Given the description of an element on the screen output the (x, y) to click on. 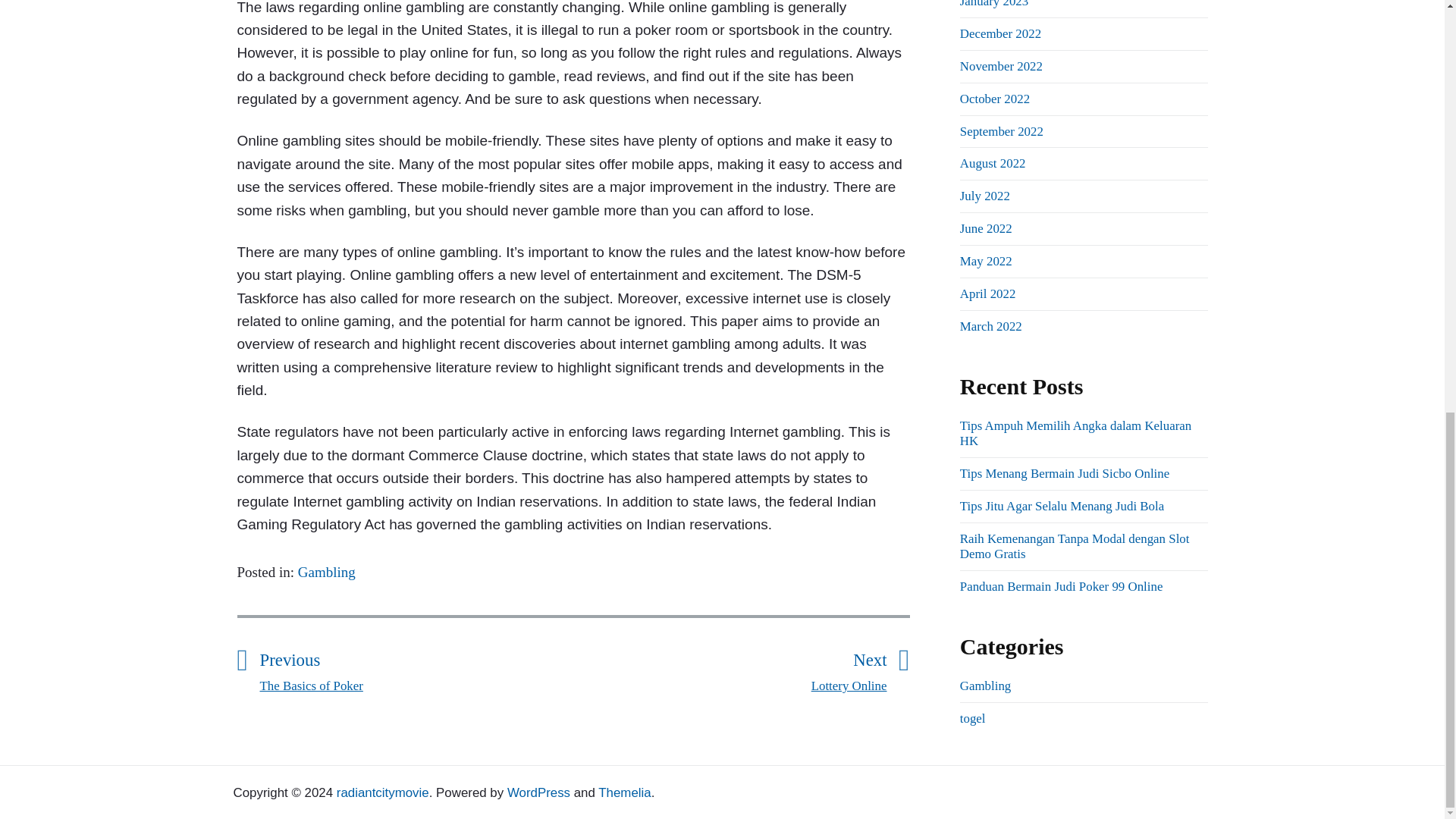
June 2022 (985, 228)
September 2022 (416, 668)
December 2022 (1001, 130)
Gambling (1000, 33)
November 2022 (326, 571)
April 2022 (1000, 65)
March 2022 (987, 293)
Tips Menang Bermain Judi Sicbo Online (990, 326)
May 2022 (1064, 473)
July 2022 (985, 260)
Tips Ampuh Memilih Angka dalam Keluaran HK (984, 196)
October 2022 (729, 668)
August 2022 (1075, 432)
